Given the description of an element on the screen output the (x, y) to click on. 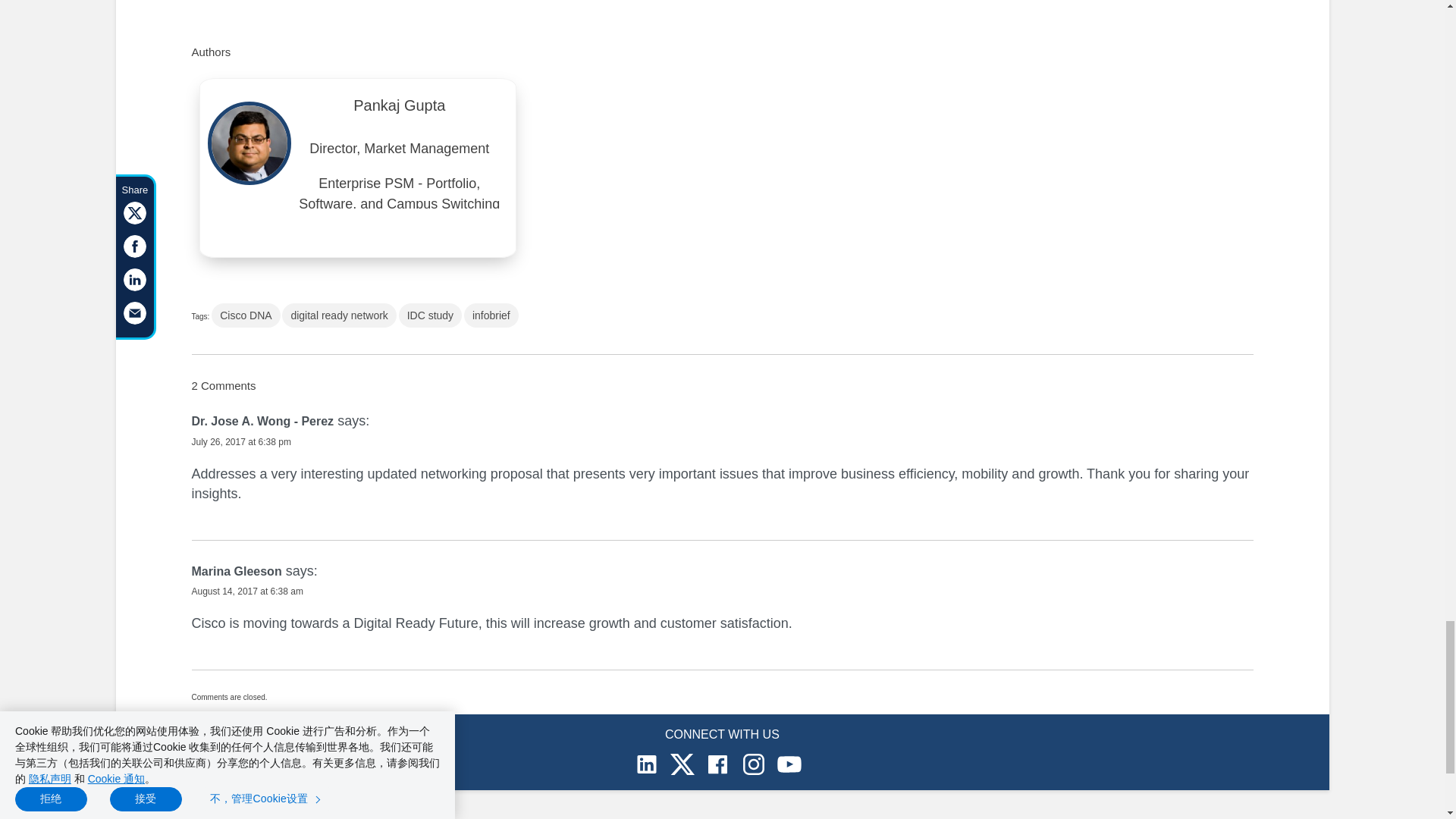
Cisco DNA (245, 315)
Pankaj Gupta (399, 109)
July 26, 2017 at 6:38 pm (239, 441)
infobrief (491, 315)
digital ready network (339, 315)
August 14, 2017 at 6:38 am (246, 591)
IDC study (429, 315)
